Given the description of an element on the screen output the (x, y) to click on. 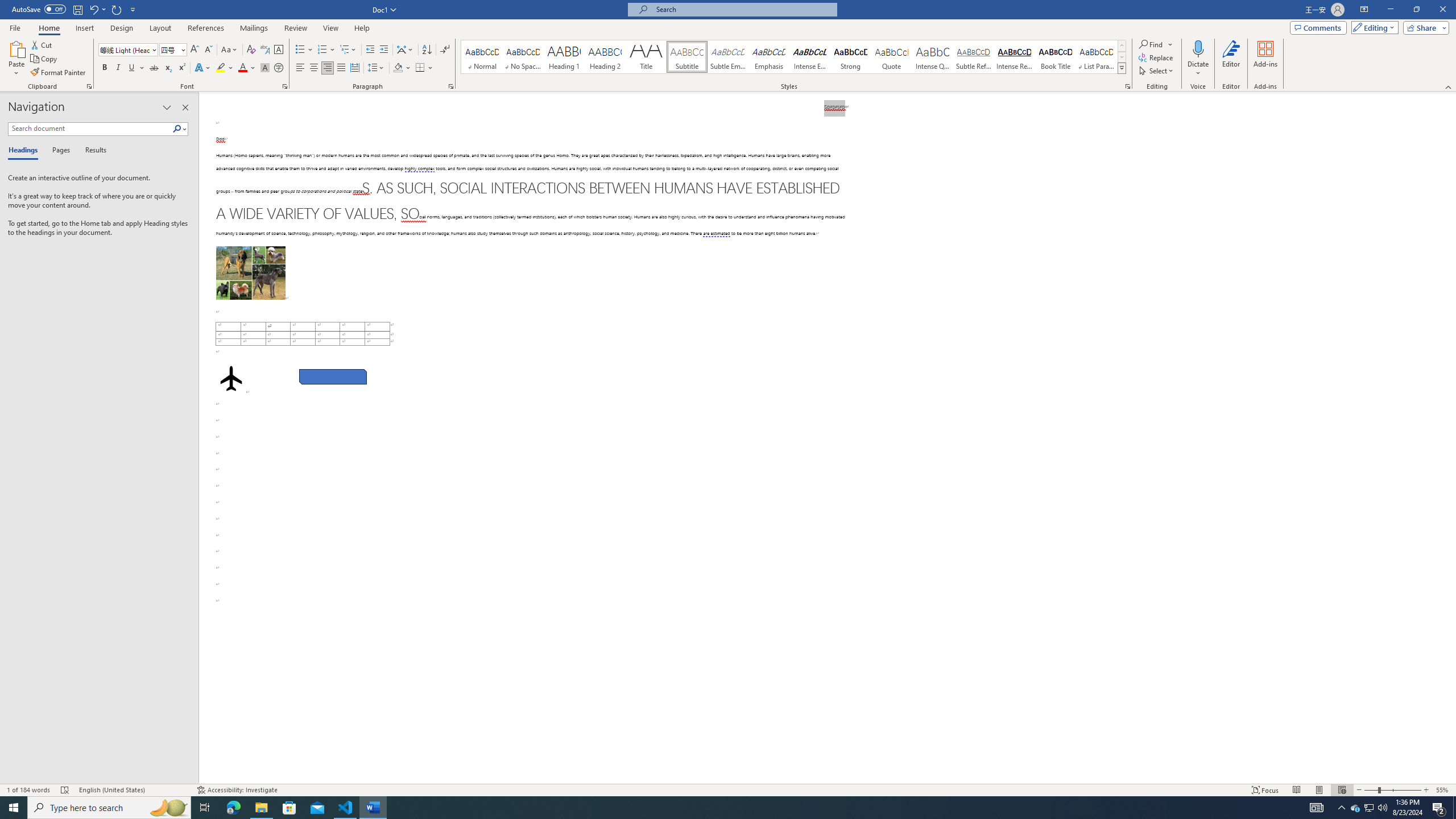
Mailings (253, 28)
Focus  (1265, 790)
Format Painter (58, 72)
Zoom (1392, 790)
Row up (1121, 45)
Heading 1 (564, 56)
Paste (16, 58)
Minimize (1390, 9)
Comments (1318, 27)
Web Layout (1342, 790)
Accessibility Checker Accessibility: Investigate (237, 790)
Search (179, 128)
Asian Layout (405, 49)
More Options (1197, 68)
Search (177, 128)
